Given the description of an element on the screen output the (x, y) to click on. 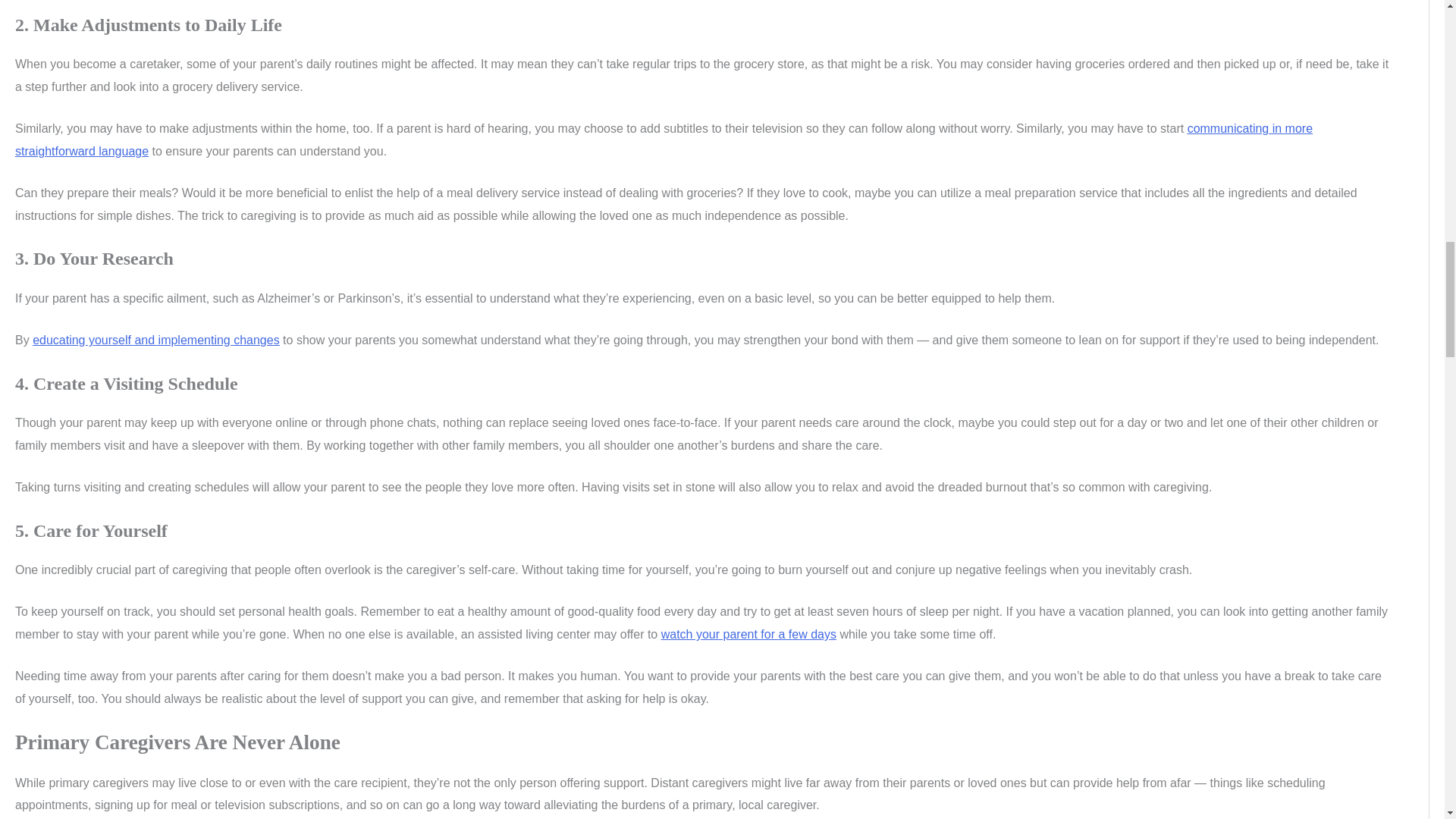
educating yourself and implementing changes (155, 339)
communicating in more straightforward language (663, 140)
watch your parent for a few days (748, 634)
